Given the description of an element on the screen output the (x, y) to click on. 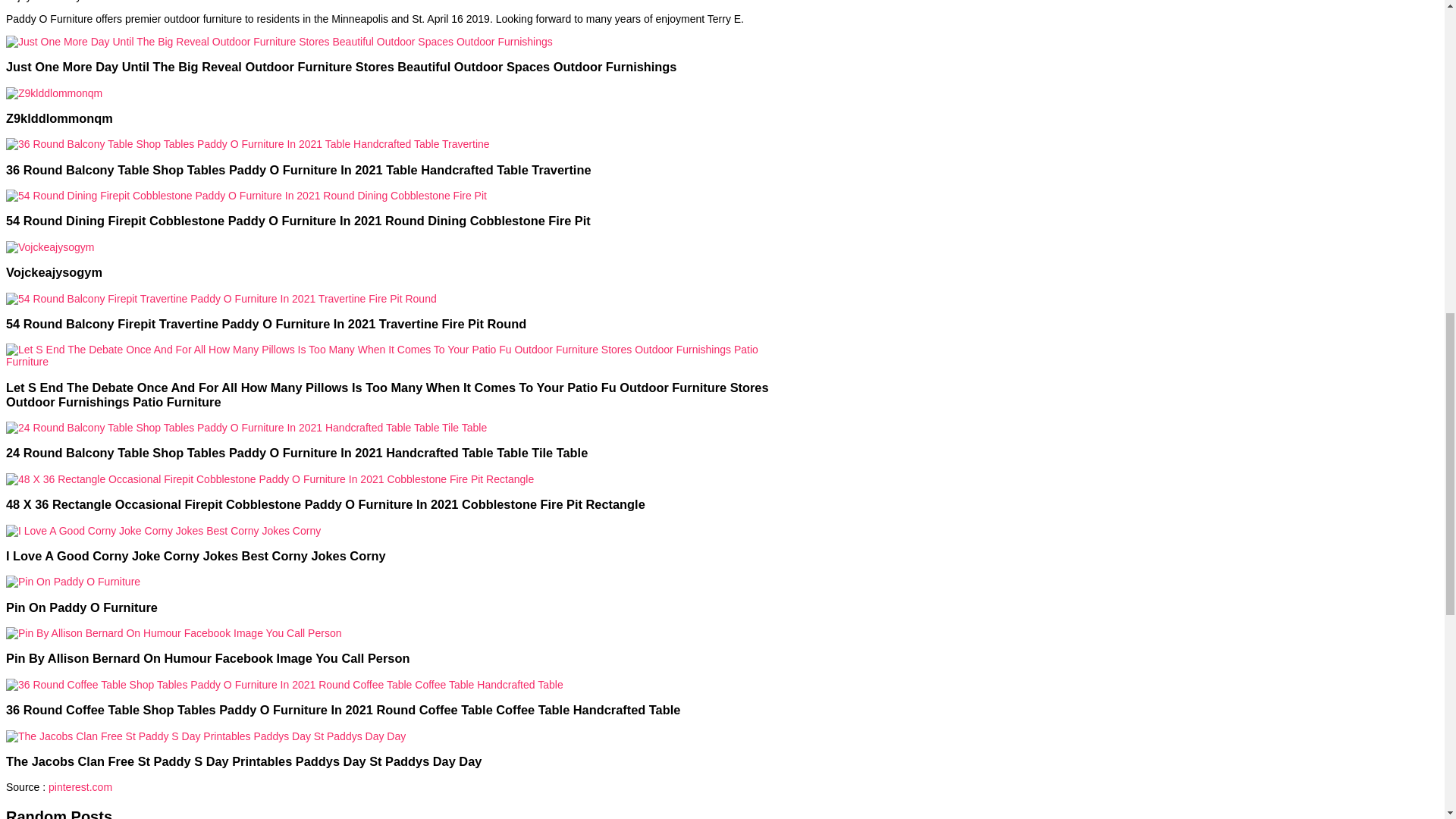
pinterest.com (80, 787)
